Given the description of an element on the screen output the (x, y) to click on. 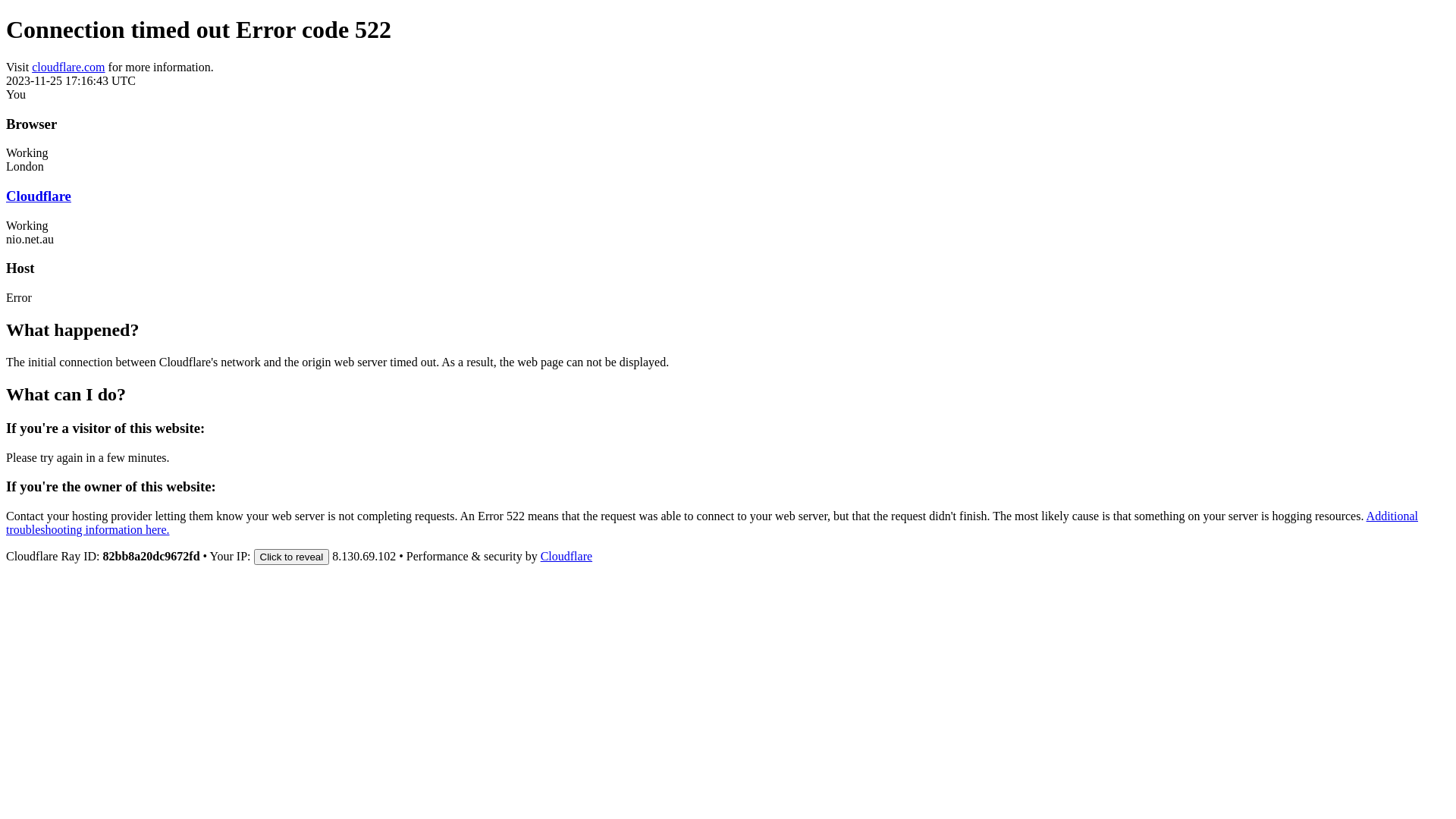
Cloudflare Element type: text (566, 555)
Additional troubleshooting information here. Element type: text (712, 522)
Cloudflare Element type: text (38, 195)
Click to reveal Element type: text (291, 556)
cloudflare.com Element type: text (67, 66)
